Given the description of an element on the screen output the (x, y) to click on. 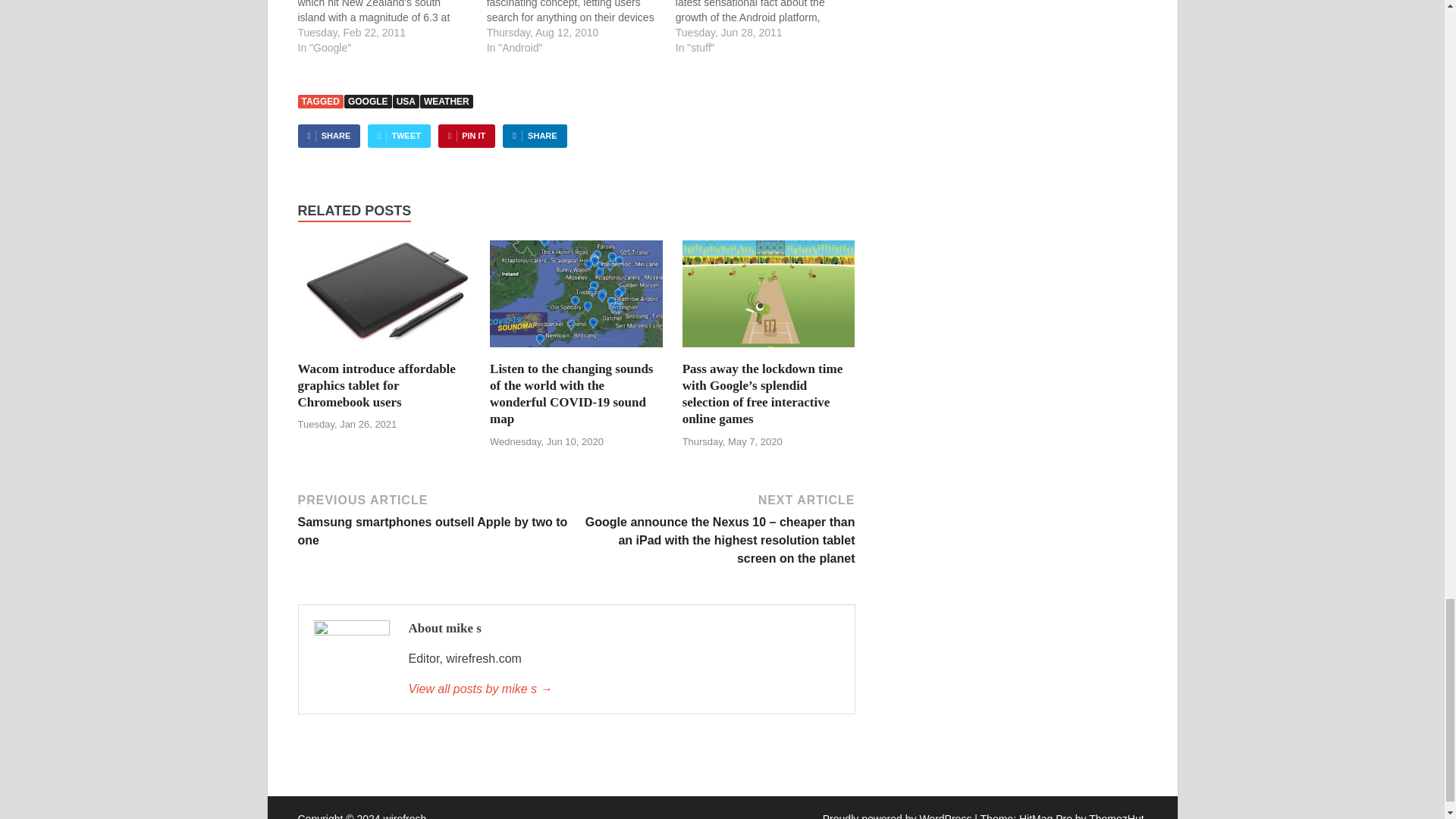
USA (406, 101)
GOOGLE (367, 101)
